Given the description of an element on the screen output the (x, y) to click on. 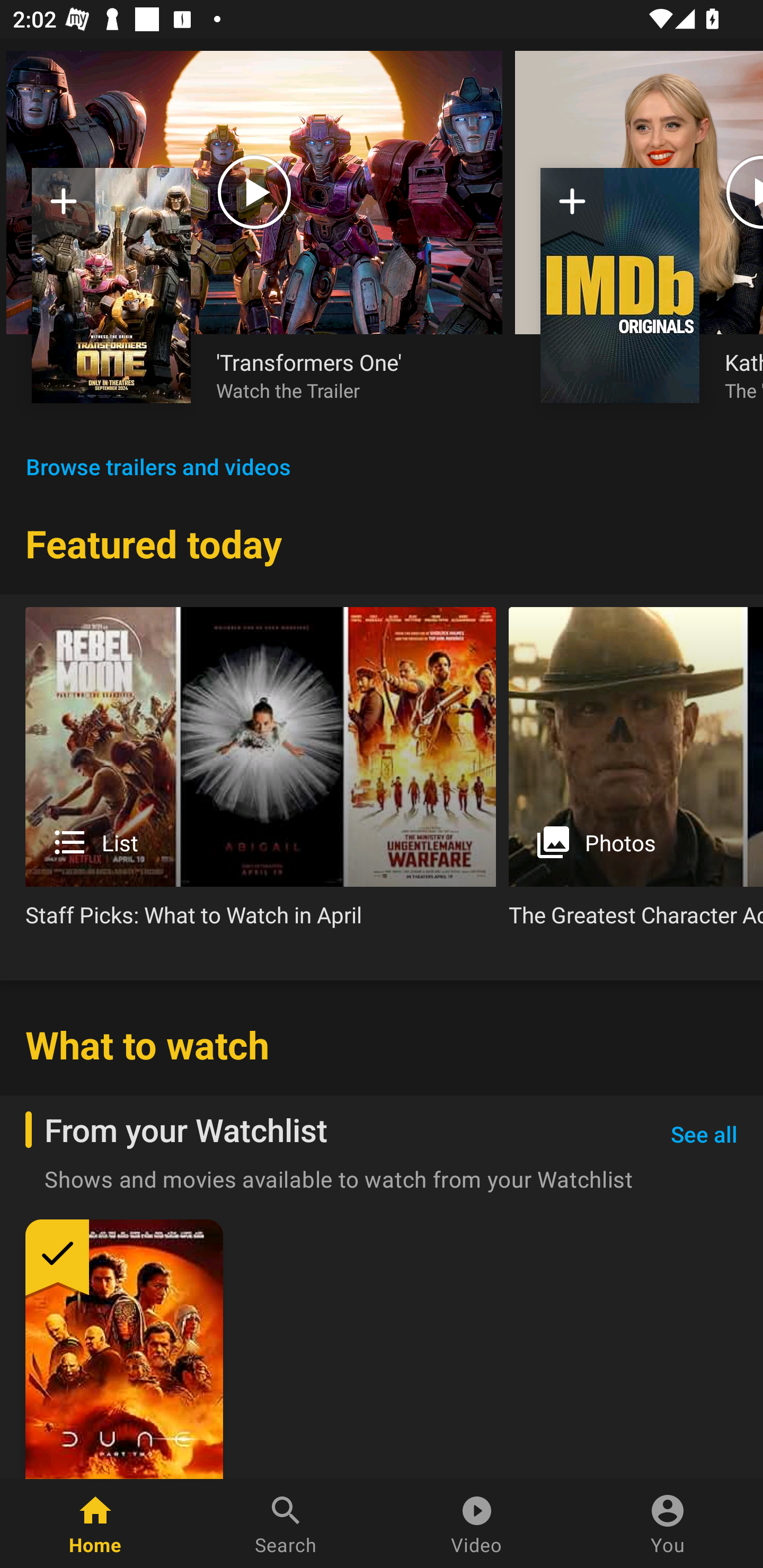
Not in watchlist (111, 284)
Not in watchlist (63, 207)
Not in watchlist (619, 284)
Not in watchlist (572, 207)
'Transformers One' Watch the Trailer (345, 374)
List Staff Picks: What to Watch in April (260, 774)
Photos The Greatest Character Actors of All Time (635, 774)
See all See all From your Watchlist (703, 1134)
Search (285, 1523)
Video (476, 1523)
You (667, 1523)
